Given the description of an element on the screen output the (x, y) to click on. 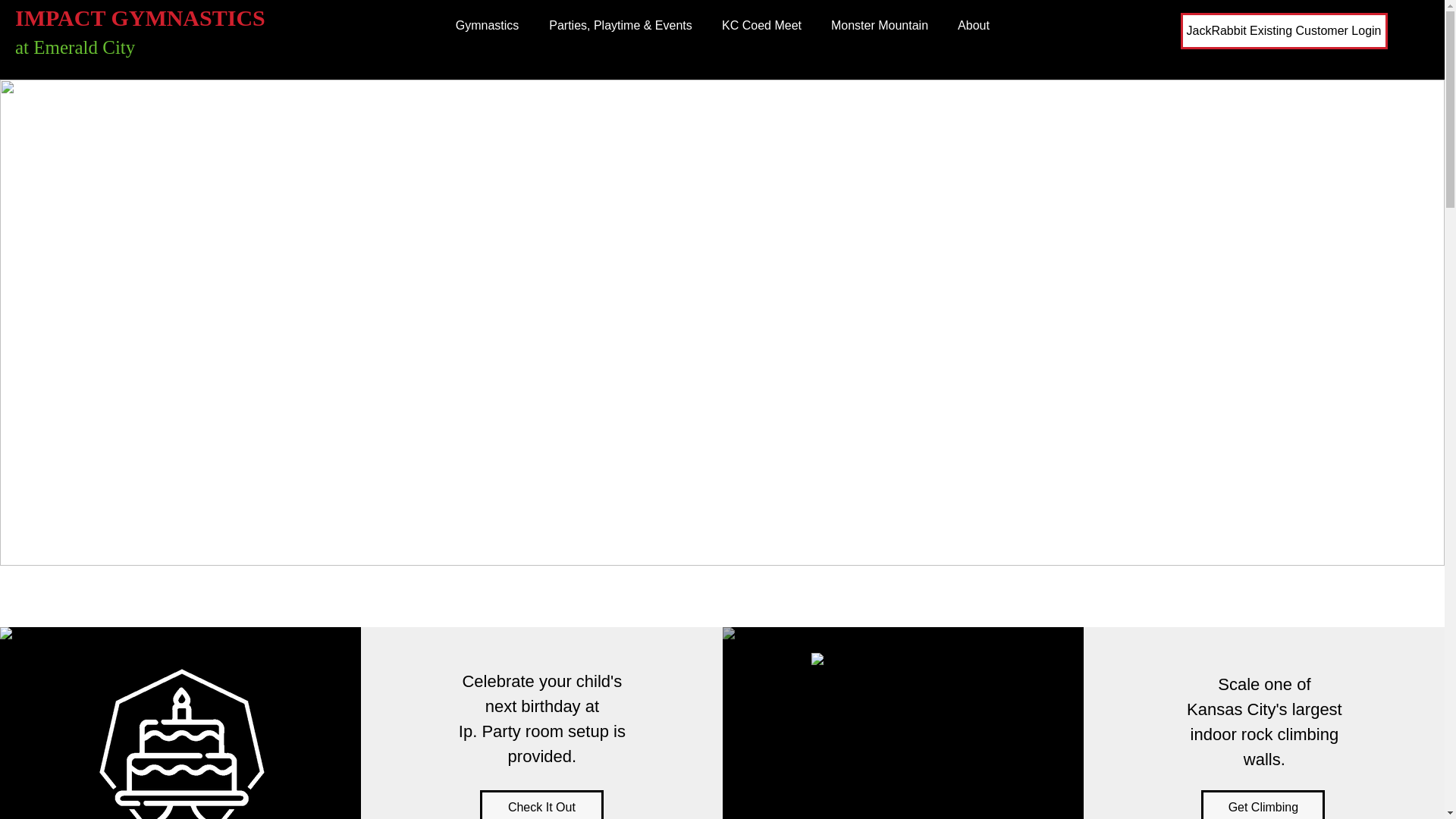
JackRabbit Existing Customer Login (1283, 31)
Get Climbing (1262, 804)
IMPACT GYMNASTICS (139, 17)
Gymnastics (486, 25)
Who We Are (769, 490)
at Emerald City (74, 46)
Monster Mountain (878, 25)
About (973, 25)
Check It Out (542, 804)
KC Coed Meet (760, 25)
